Given the description of an element on the screen output the (x, y) to click on. 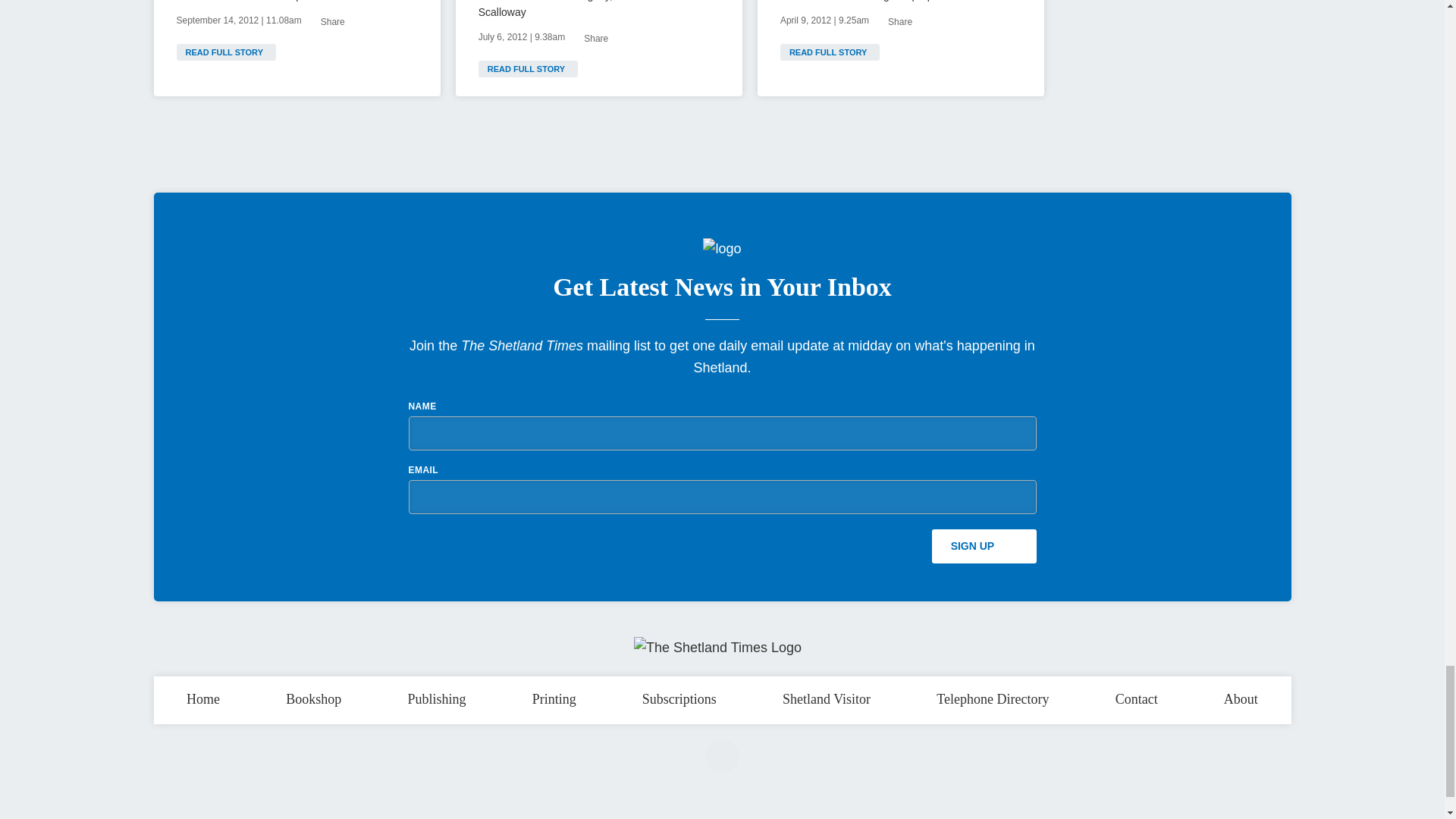
READ FULL STORY (829, 52)
READ FULL STORY (225, 52)
READ FULL STORY (528, 68)
